Given the description of an element on the screen output the (x, y) to click on. 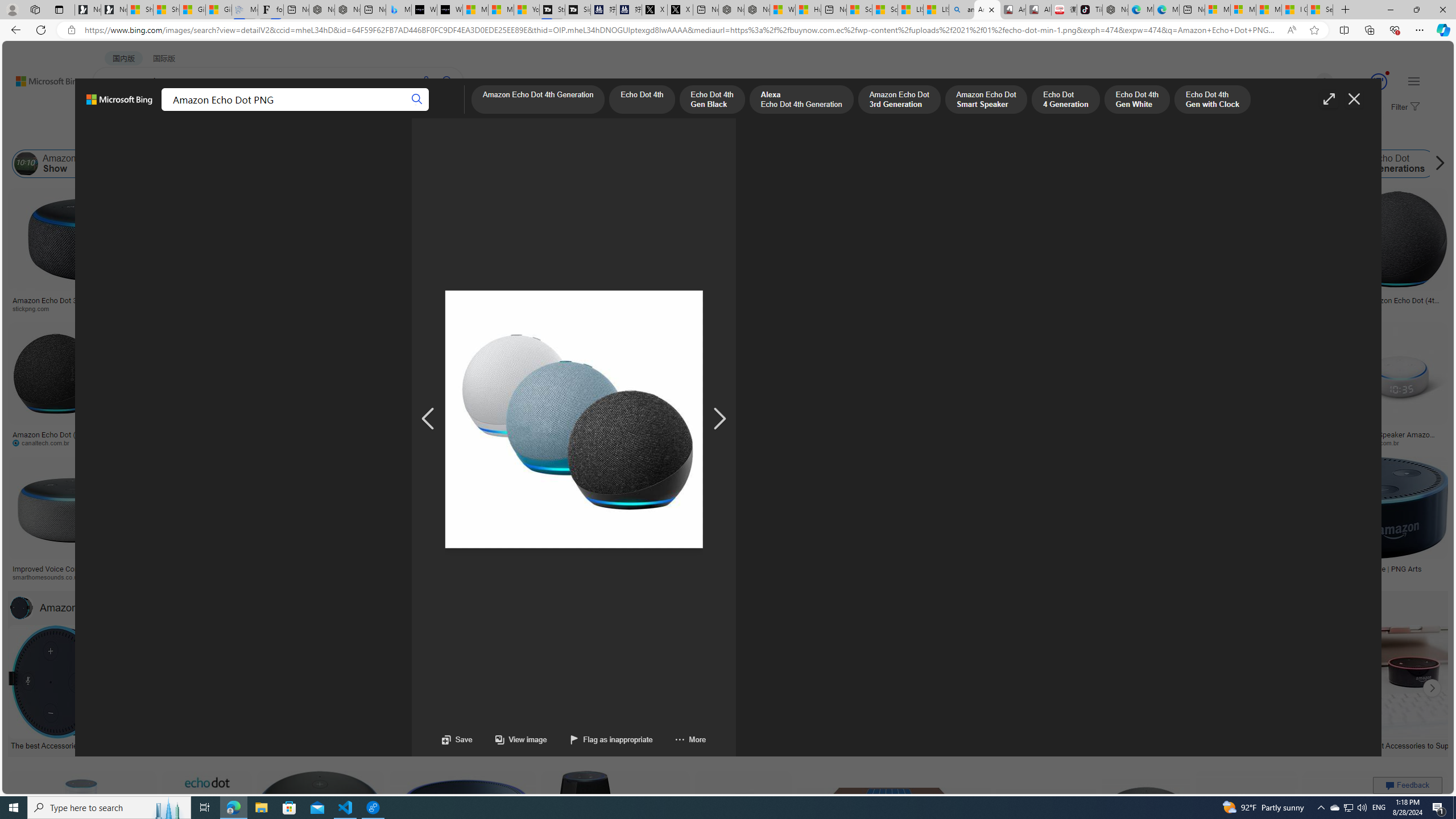
Echo Dot with Clock (565, 261)
DICT (357, 111)
Alexa Echo Png Pic Png Arts Imagestpsearchtool.comSave (924, 252)
security.org (167, 576)
Smart Speaker Alexa (565, 296)
avenidatecnologica.com (1243, 442)
Android Central (396, 576)
Amazon Echo Dot 4th Gen (565, 227)
